Given the description of an element on the screen output the (x, y) to click on. 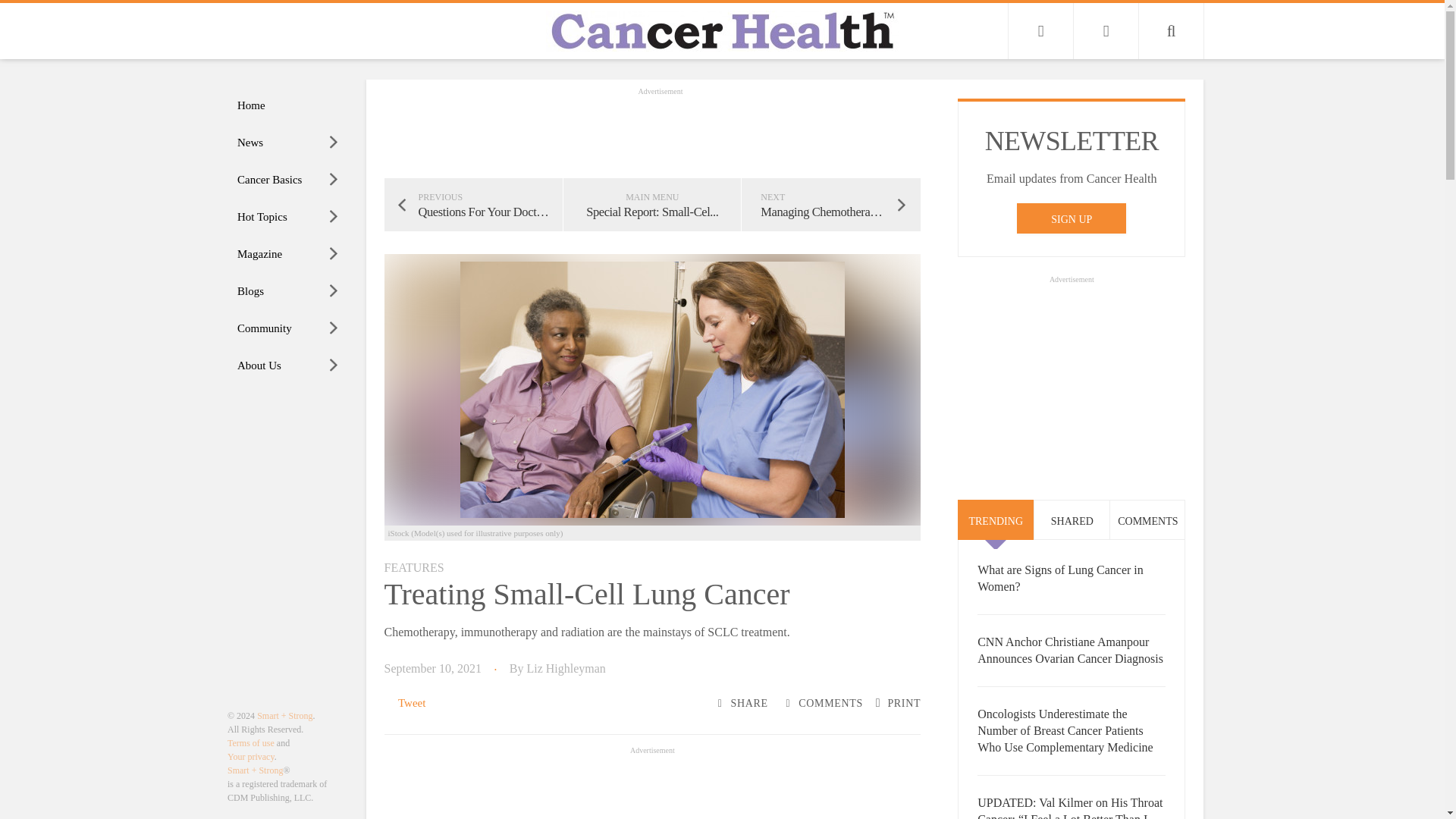
3rd party ad content (651, 788)
Hot Topics (288, 217)
Cancer Basics (288, 180)
3rd party ad content (660, 132)
Home (288, 105)
News (288, 142)
3rd party ad content (1071, 381)
